Given the description of an element on the screen output the (x, y) to click on. 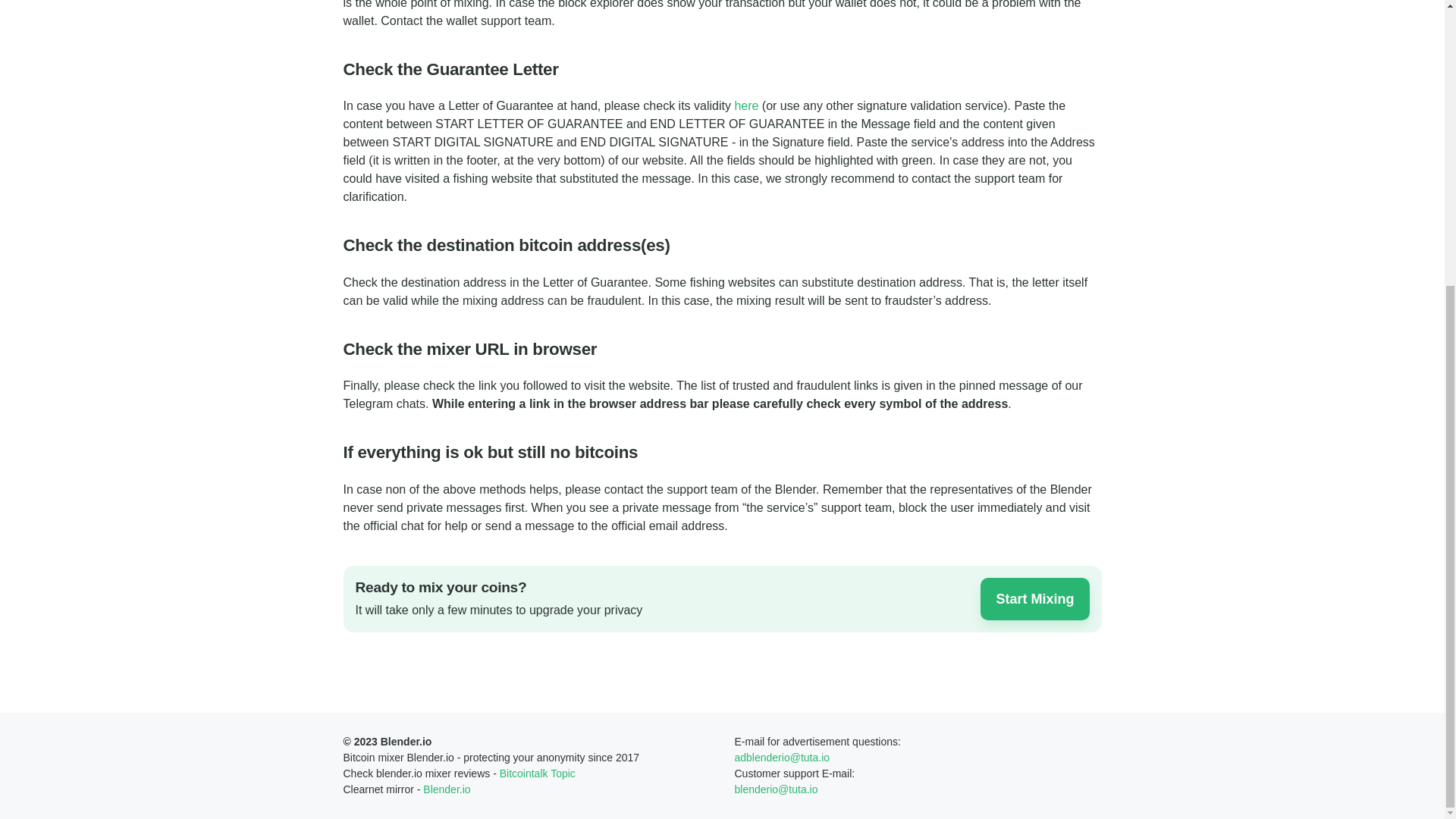
Blender.io (446, 788)
here (745, 105)
Start Mixing (1034, 598)
Bitcointalk Topic (537, 773)
